Given the description of an element on the screen output the (x, y) to click on. 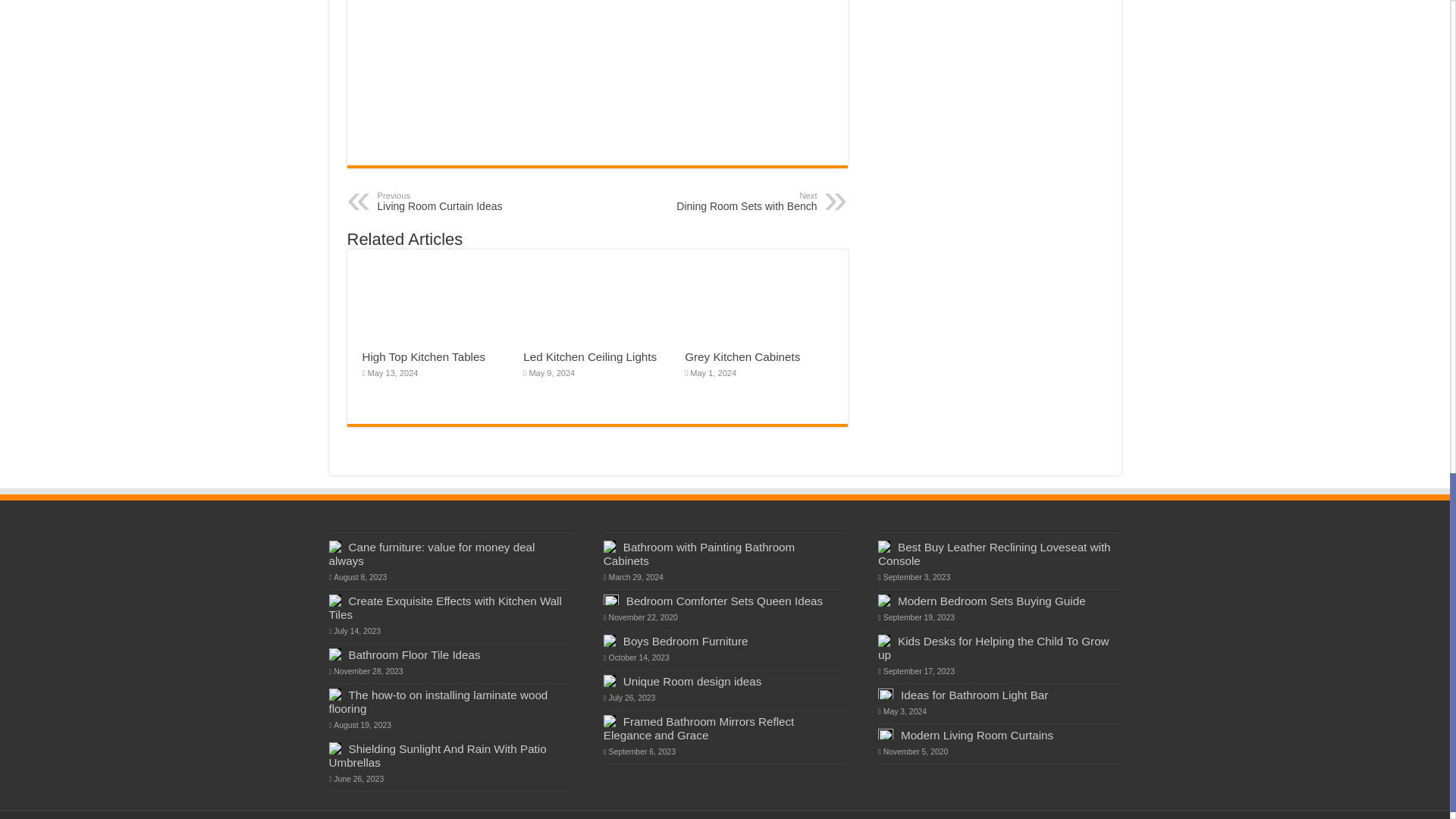
High Top Kitchen Tables (454, 201)
